Given the description of an element on the screen output the (x, y) to click on. 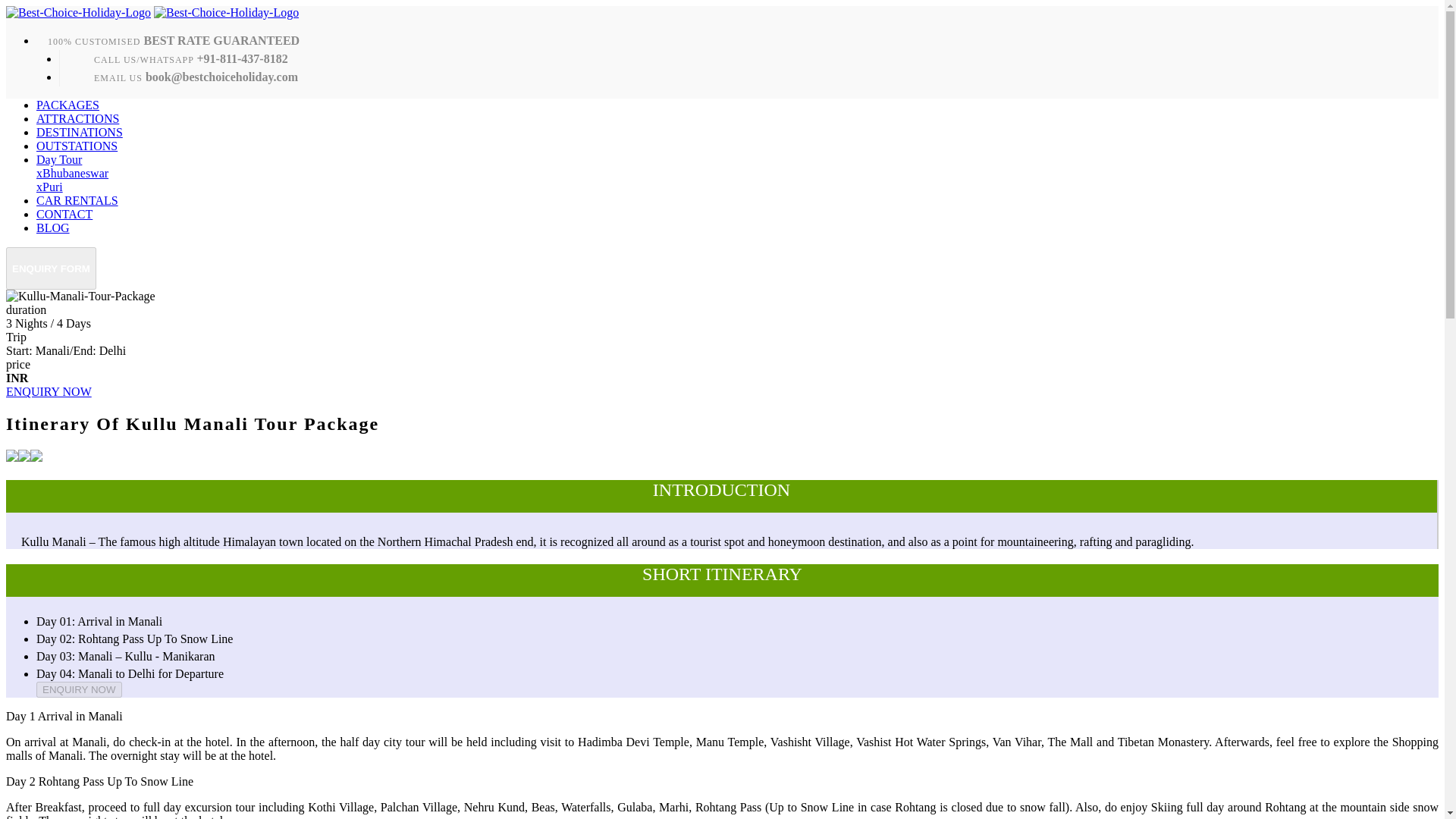
ENQUIRY NOW (79, 689)
ENQUIRY NOW (79, 688)
ENQUIRY FORM (50, 267)
ENQUIRY FORM (50, 268)
Day Tour (58, 159)
xPuri (49, 186)
ENQUIRY NOW (48, 391)
xBhubaneswar (71, 173)
